Given the description of an element on the screen output the (x, y) to click on. 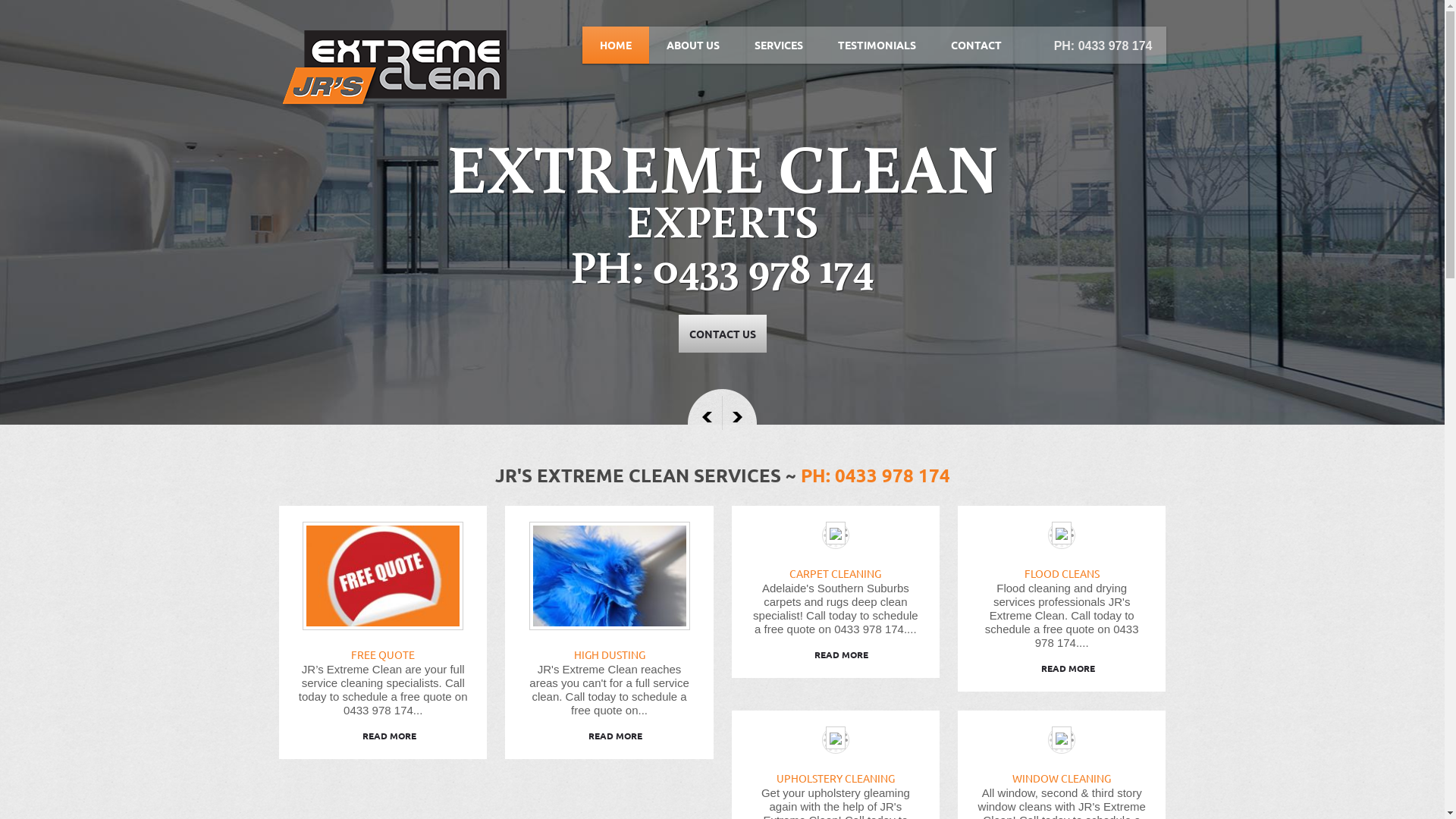
READ MORE Element type: text (1061, 667)
HOME Element type: text (615, 44)
SERVICES Element type: text (778, 44)
READ MORE Element type: text (834, 654)
Upholstery Cleaning Element type: hover (835, 737)
FLOOD CLEANS Element type: text (1061, 573)
CONTACT US Element type: text (721, 333)
TESTIMONIALS Element type: text (876, 44)
Flood Cleans Element type: hover (1061, 532)
CONTACT Element type: text (975, 44)
WINDOW CLEANING Element type: text (1061, 777)
CARPET CLEANING Element type: text (835, 573)
READ MORE Element type: text (382, 735)
READ MORE Element type: text (608, 735)
PH: 0433 978 174 Element type: text (875, 474)
High Dusting Element type: hover (609, 575)
FREE QUOTE Element type: text (382, 654)
Domestic and Commercial Cleaning Experts Element type: hover (392, 71)
HIGH DUSTING Element type: text (609, 654)
ABOUT US Element type: text (693, 44)
Window Cleaning Element type: hover (1061, 737)
PH: 0433 978 174 Element type: text (1103, 45)
Free Quote Element type: hover (382, 575)
UPHOLSTERY CLEANING Element type: text (835, 777)
Carpet Cleaning Element type: hover (835, 532)
